Given the description of an element on the screen output the (x, y) to click on. 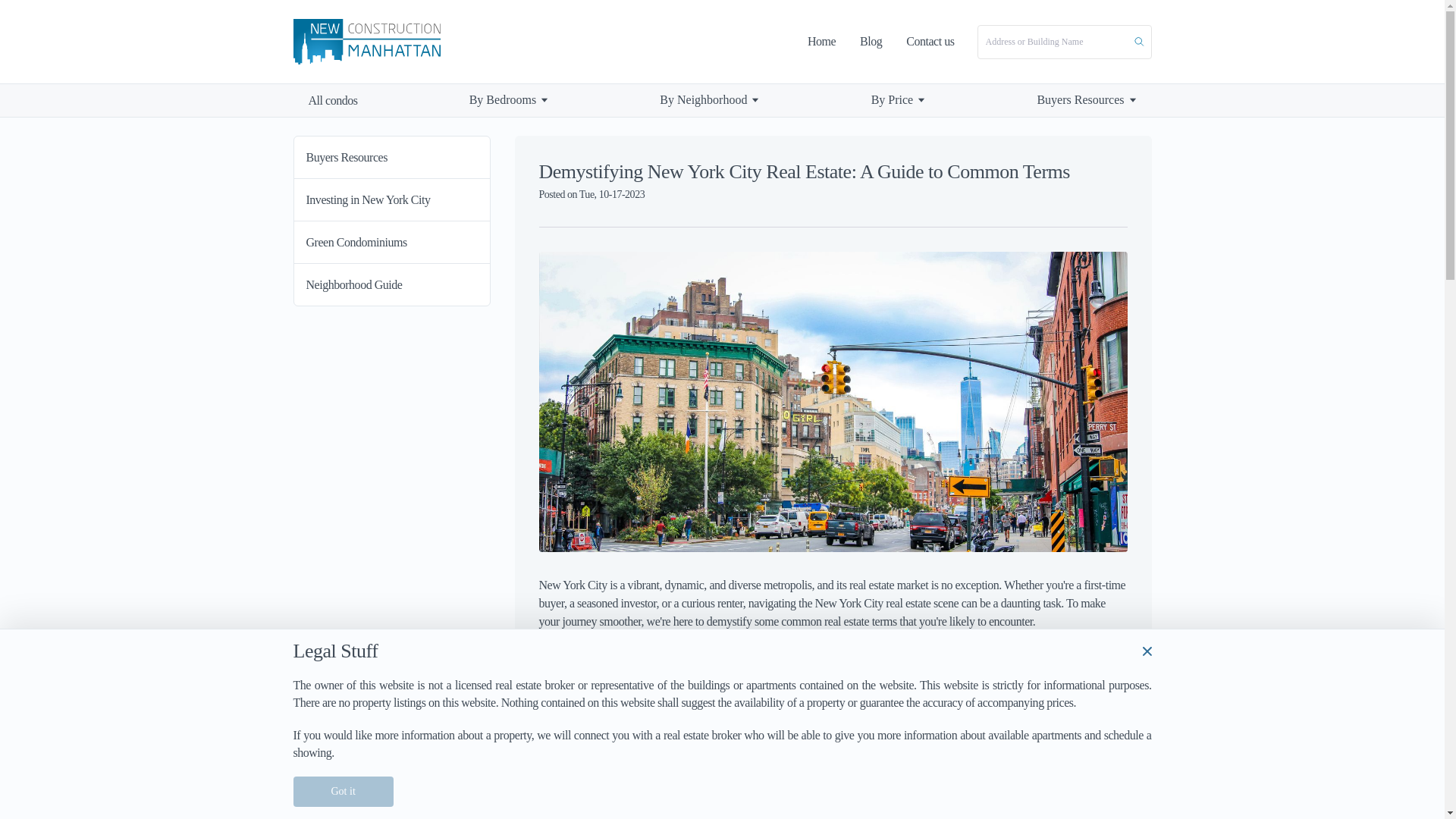
Buyers Resources (1086, 100)
By Neighborhood (709, 100)
Contact us (929, 41)
Blog (871, 41)
All condos (332, 100)
By Bedrooms (501, 100)
By Bedrooms (508, 100)
By Price (898, 100)
By Neighborhood (702, 100)
By Price (892, 100)
Home (821, 41)
